Given the description of an element on the screen output the (x, y) to click on. 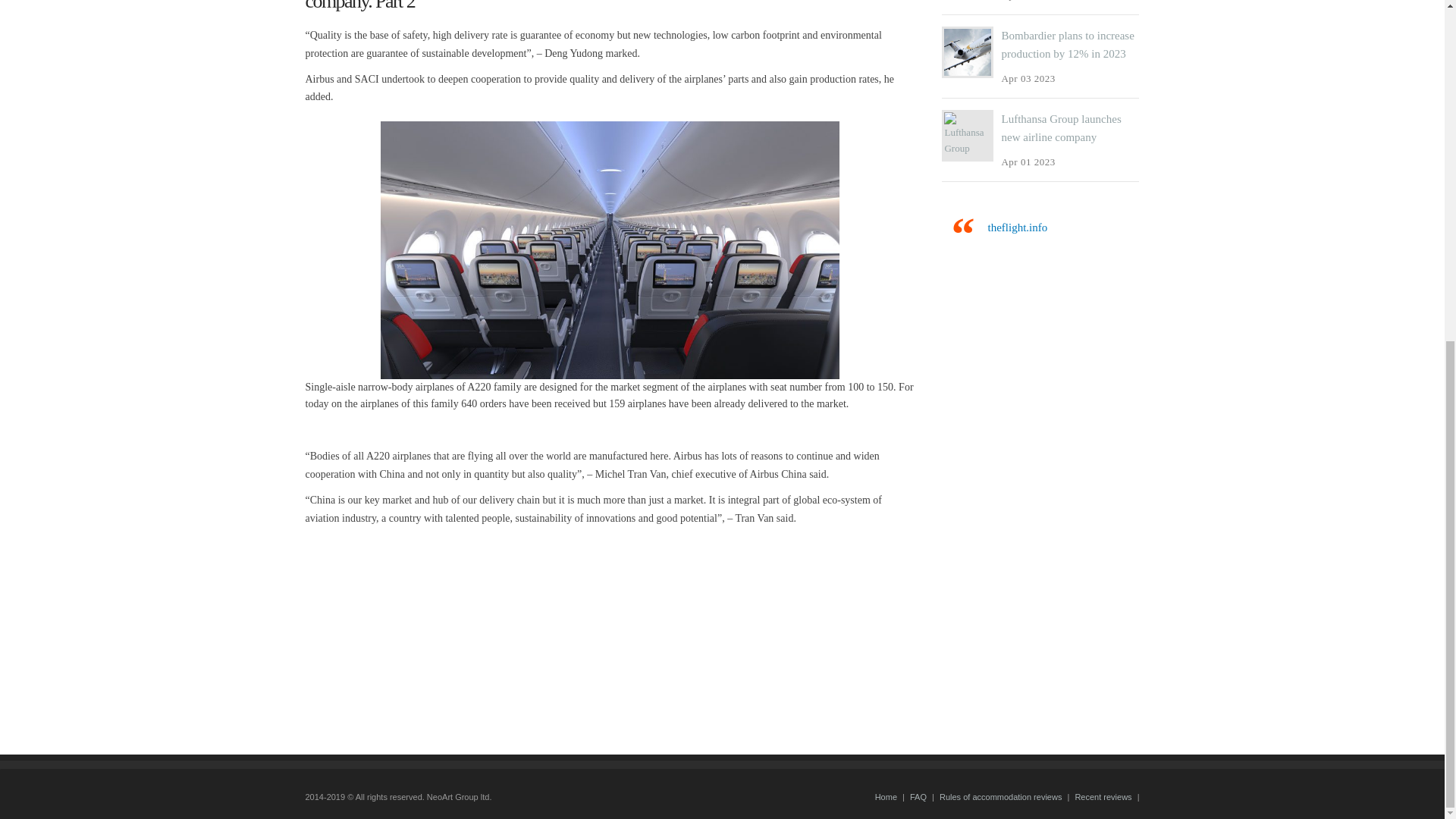
theflight.info (1016, 227)
FAQ (918, 796)
Rules of accommodation reviews (1000, 796)
Lufthansa Group launches new airline company (1061, 128)
Recent reviews (1102, 796)
Home (885, 796)
